Given the description of an element on the screen output the (x, y) to click on. 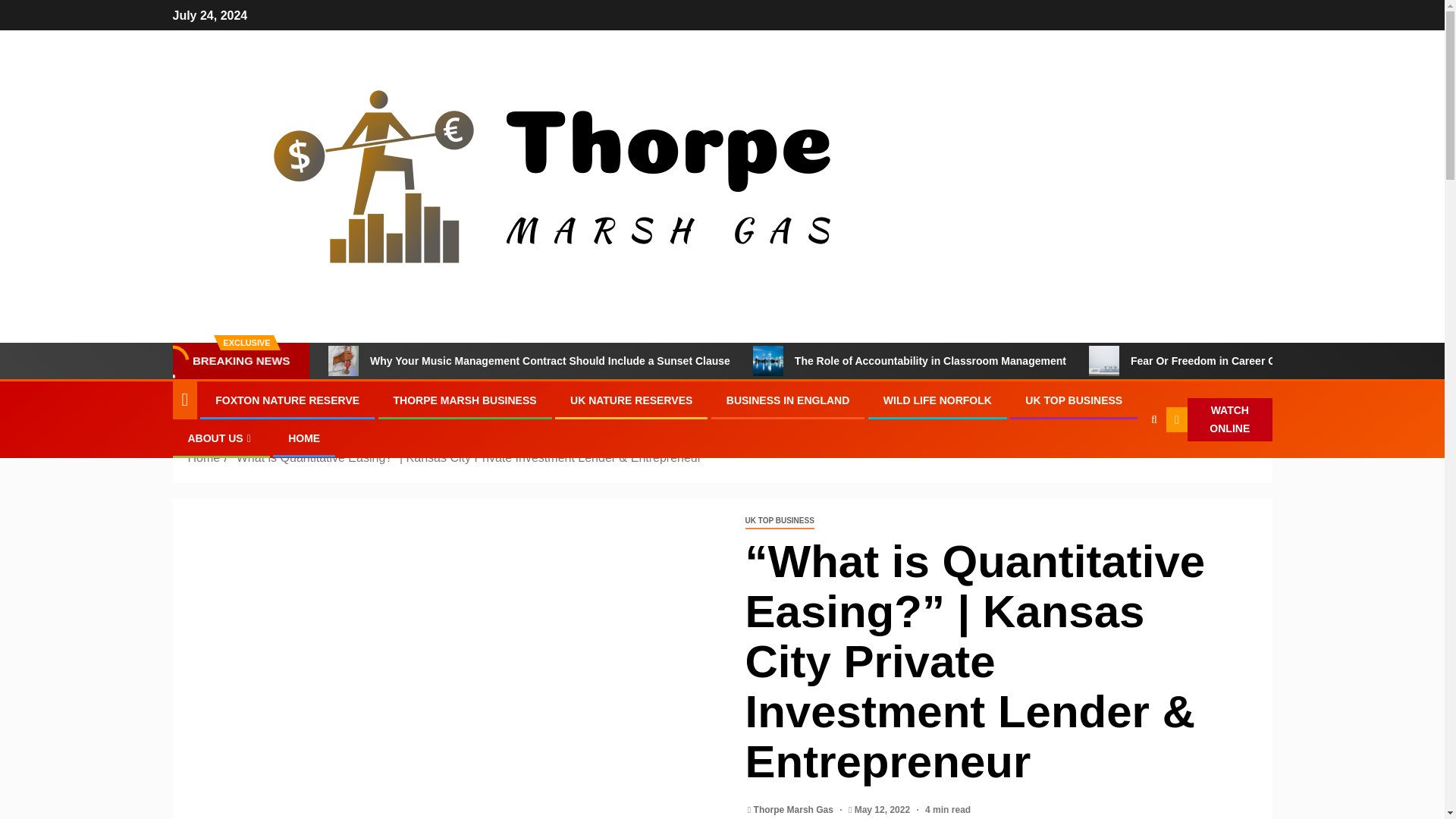
HOME (304, 438)
The Role of Accountability in Classroom Management (767, 360)
FOXTON NATURE RESERVE (287, 399)
Search (1123, 466)
UK TOP BUSINESS (1073, 399)
Search (1153, 419)
Thorpe Marsh Gas (794, 809)
Home (204, 457)
WATCH ONLINE (1219, 420)
UK TOP BUSINESS (778, 521)
THORPE MARSH BUSINESS (465, 399)
The Role of Accountability in Classroom Management (909, 360)
BUSINESS IN ENGLAND (788, 399)
Fear Or Freedom in Career Choice? (1199, 360)
UK NATURE RESERVES (631, 399)
